Given the description of an element on the screen output the (x, y) to click on. 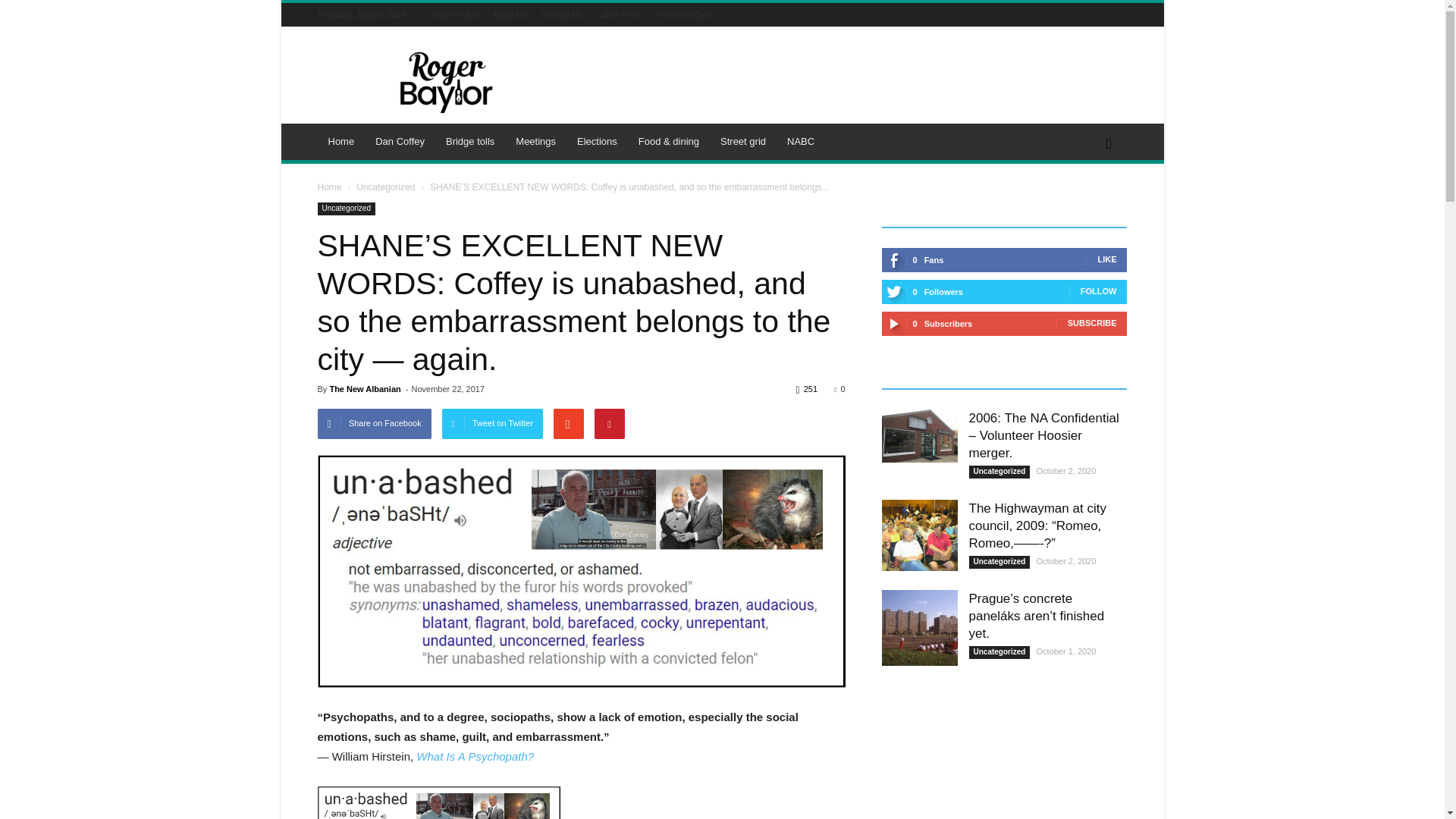
Vimeo (1099, 13)
Twitter (1080, 13)
Contact Us (560, 13)
View all posts in Uncategorized (385, 186)
Home (341, 141)
Behance (1023, 13)
Latest Posts (619, 13)
Instagram (1061, 13)
VKontakte (1117, 13)
Food and Dine (684, 13)
Facebook (1042, 13)
About Us (508, 13)
Dan Coffey (400, 141)
